Given the description of an element on the screen output the (x, y) to click on. 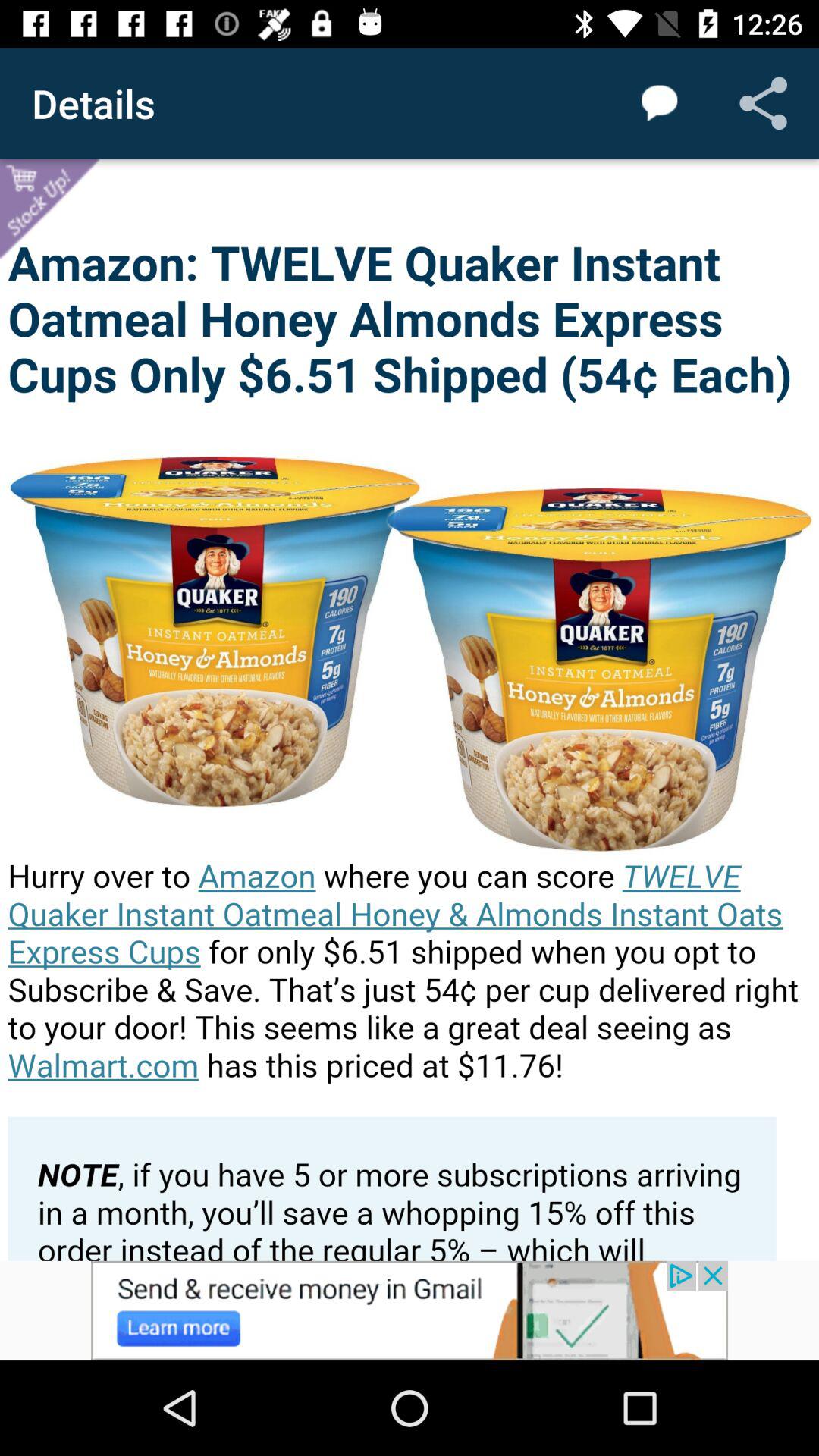
open advertisement (409, 1310)
